Given the description of an element on the screen output the (x, y) to click on. 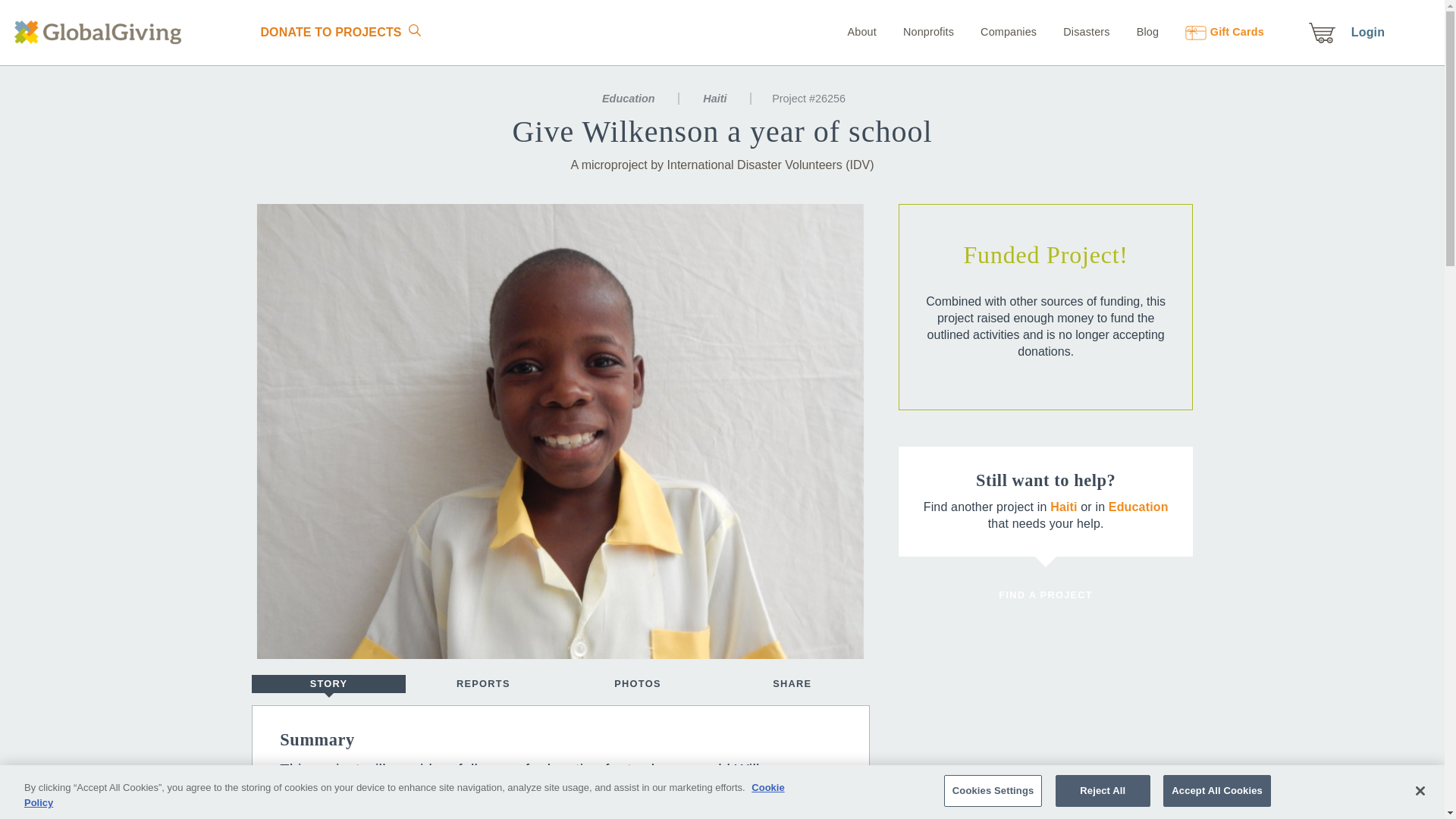
Companies (996, 31)
Nonprofits (916, 31)
Gift Cards (1212, 31)
Login (1367, 31)
Disasters (1074, 31)
DONATE TO PROJECTS (330, 31)
About (861, 31)
Blog (1135, 31)
